Given the description of an element on the screen output the (x, y) to click on. 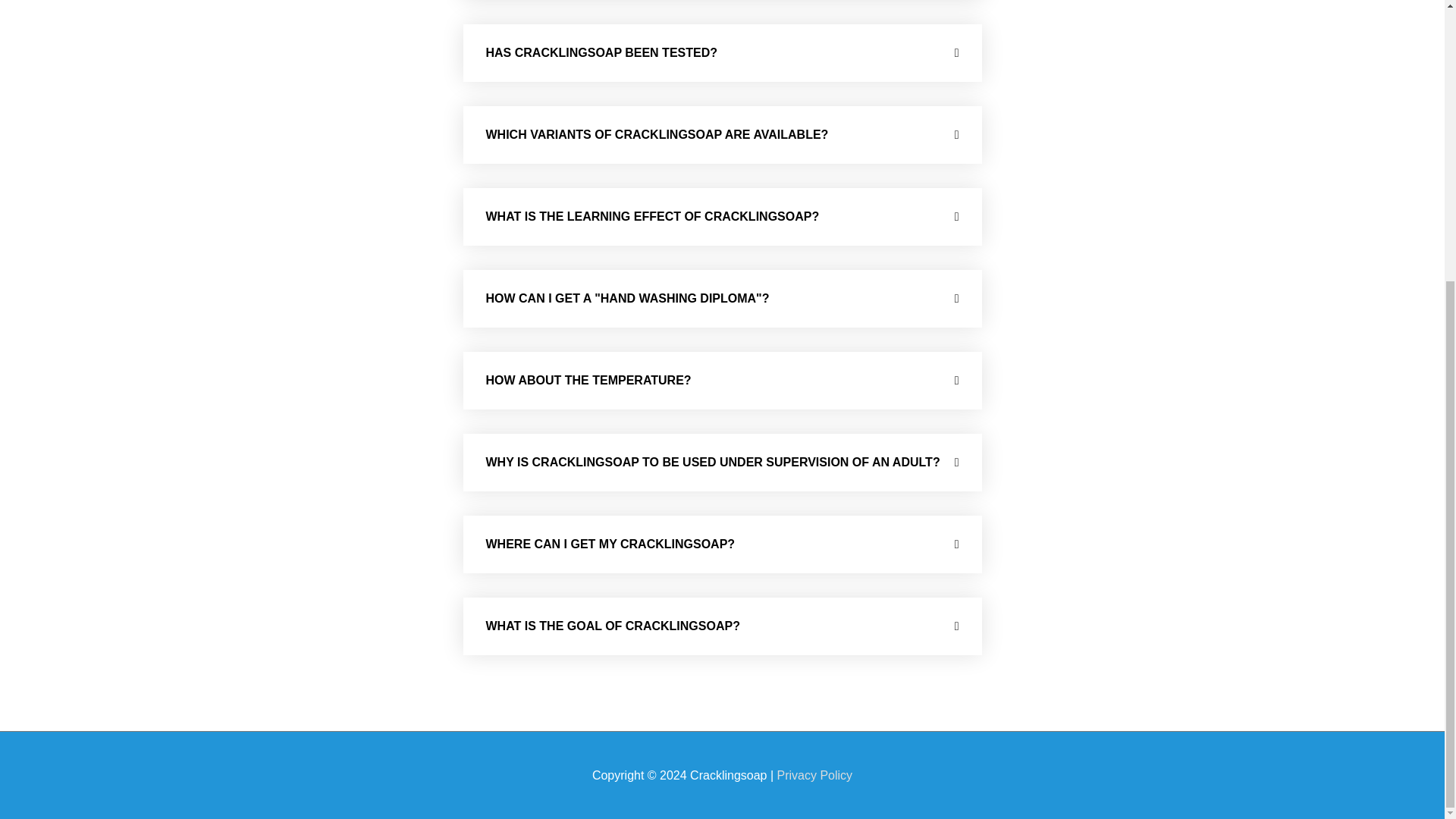
WHICH VARIANTS OF CRACKLINGSOAP ARE AVAILABLE? (656, 133)
HOW CAN I GET A "HAND WASHING DIPLOMA"? (626, 297)
Privacy Policy (815, 775)
WHAT IS THE LEARNING EFFECT OF CRACKLINGSOAP? (651, 215)
HOW ABOUT THE TEMPERATURE? (587, 379)
WHAT IS THE GOAL OF CRACKLINGSOAP? (611, 625)
HAS CRACKLINGSOAP BEEN TESTED? (600, 51)
WHERE CAN I GET MY CRACKLINGSOAP? (609, 543)
